Given the description of an element on the screen output the (x, y) to click on. 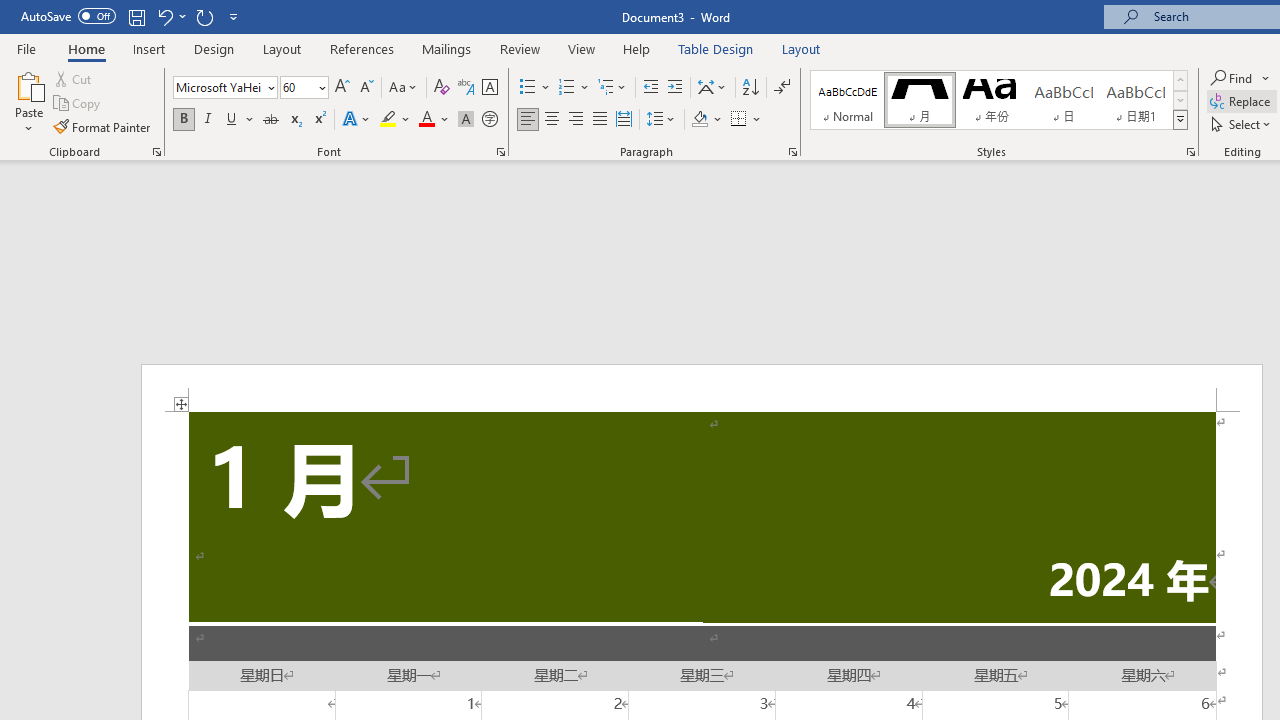
Row up (1179, 79)
Styles (1179, 120)
